Given the description of an element on the screen output the (x, y) to click on. 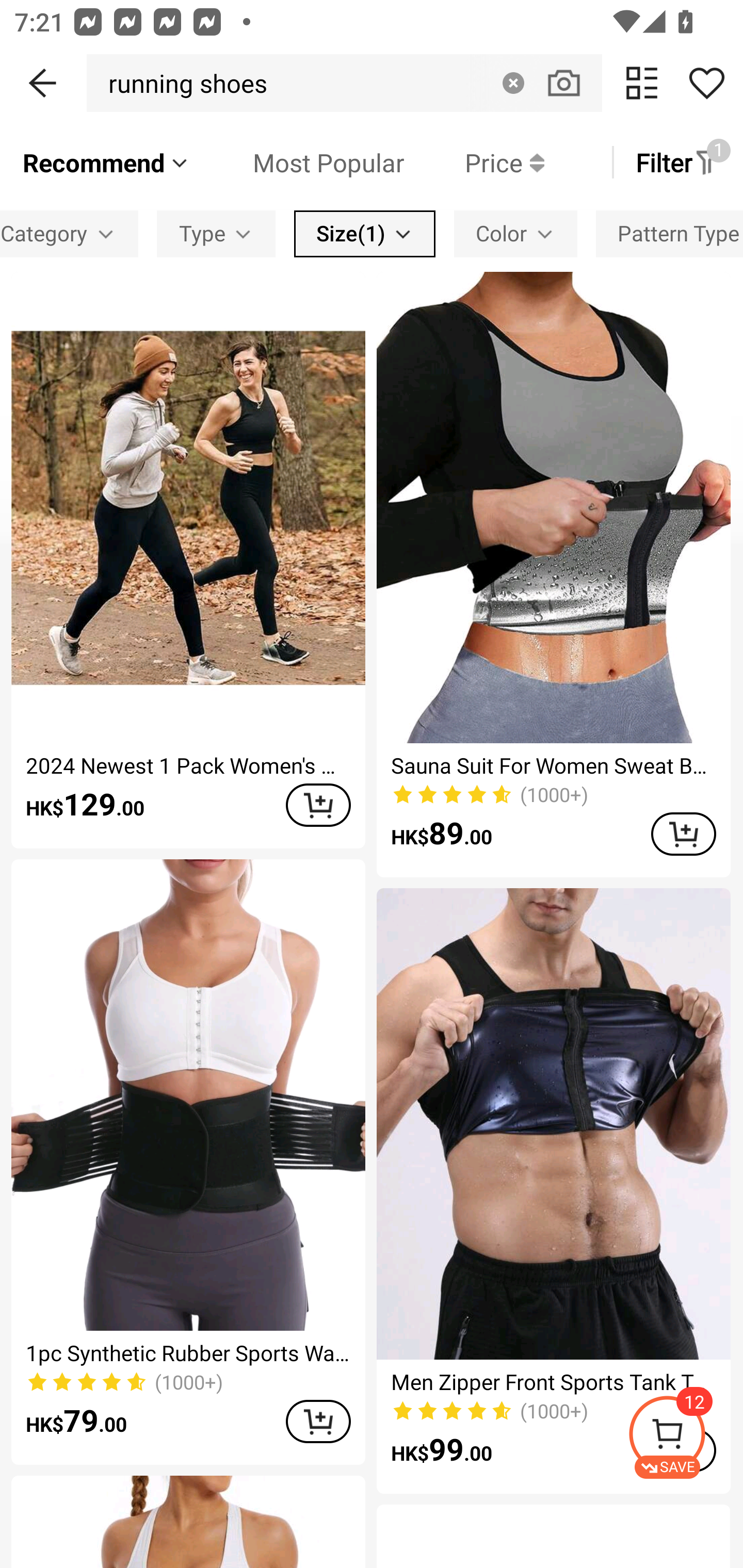
running shoes Clear (343, 82)
running shoes (181, 82)
Clear (513, 82)
change view (641, 82)
Share (706, 82)
Recommend (106, 162)
Most Popular (297, 162)
Price (474, 162)
Filter 1 (677, 162)
Category (69, 233)
Type (215, 233)
Size(1) (364, 233)
Color (515, 233)
Pattern Type (669, 233)
ADD TO CART (318, 805)
ADD TO CART (683, 834)
SAVE (685, 1436)
ADD TO CART (318, 1421)
